Given the description of an element on the screen output the (x, y) to click on. 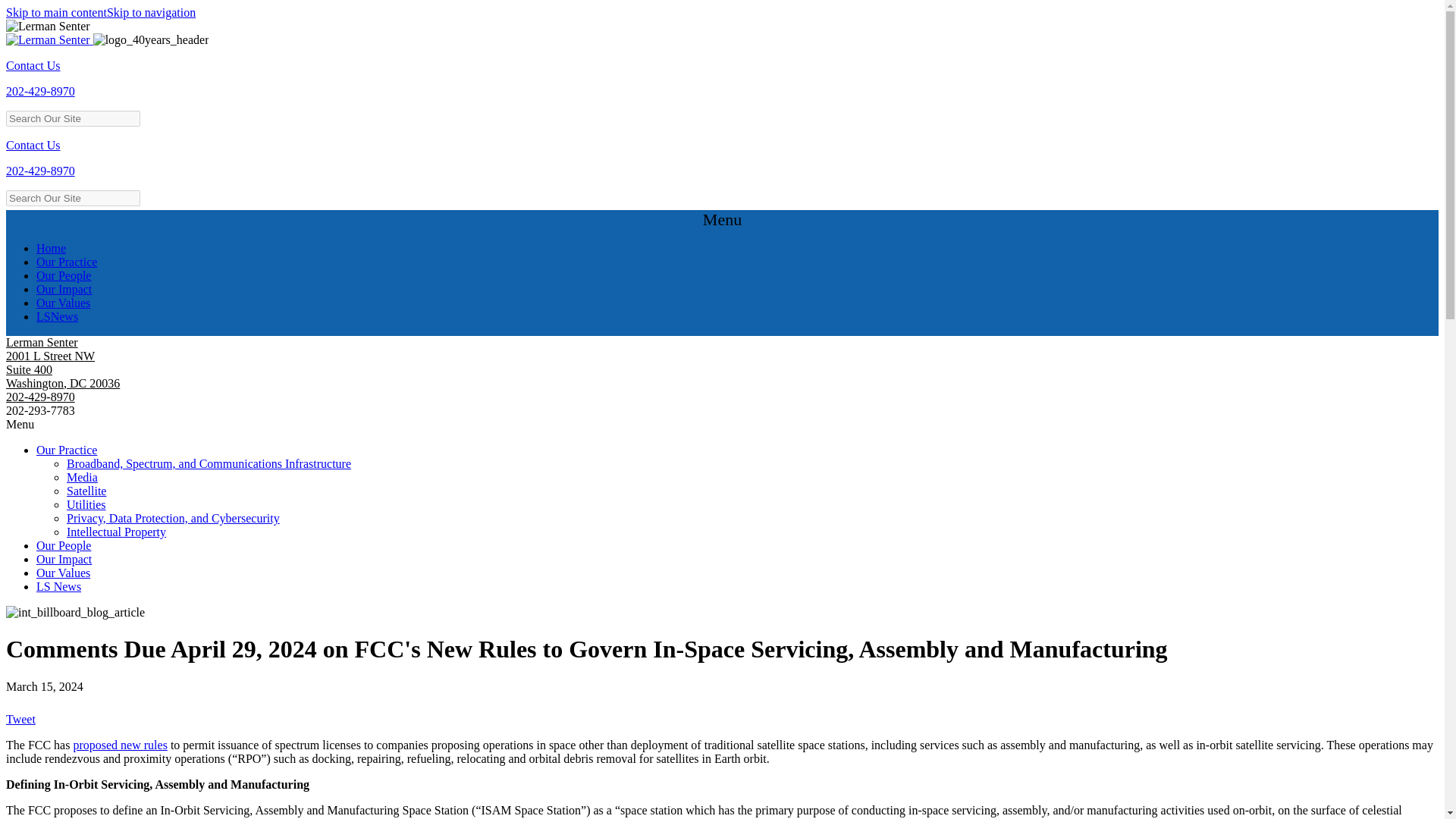
Our Values (63, 572)
Utilities (86, 504)
Contact Us (33, 65)
Contact Us (33, 144)
Media (81, 477)
Broadband, Spectrum, and Communications Infrastructure (208, 463)
Our Practice (66, 261)
Our Impact (63, 288)
Our Impact (63, 558)
Tweet (19, 718)
202-429-8970 (40, 170)
Our Practice (66, 449)
LS News (58, 585)
Skip to main content (55, 11)
202-429-8970 (40, 91)
